Given the description of an element on the screen output the (x, y) to click on. 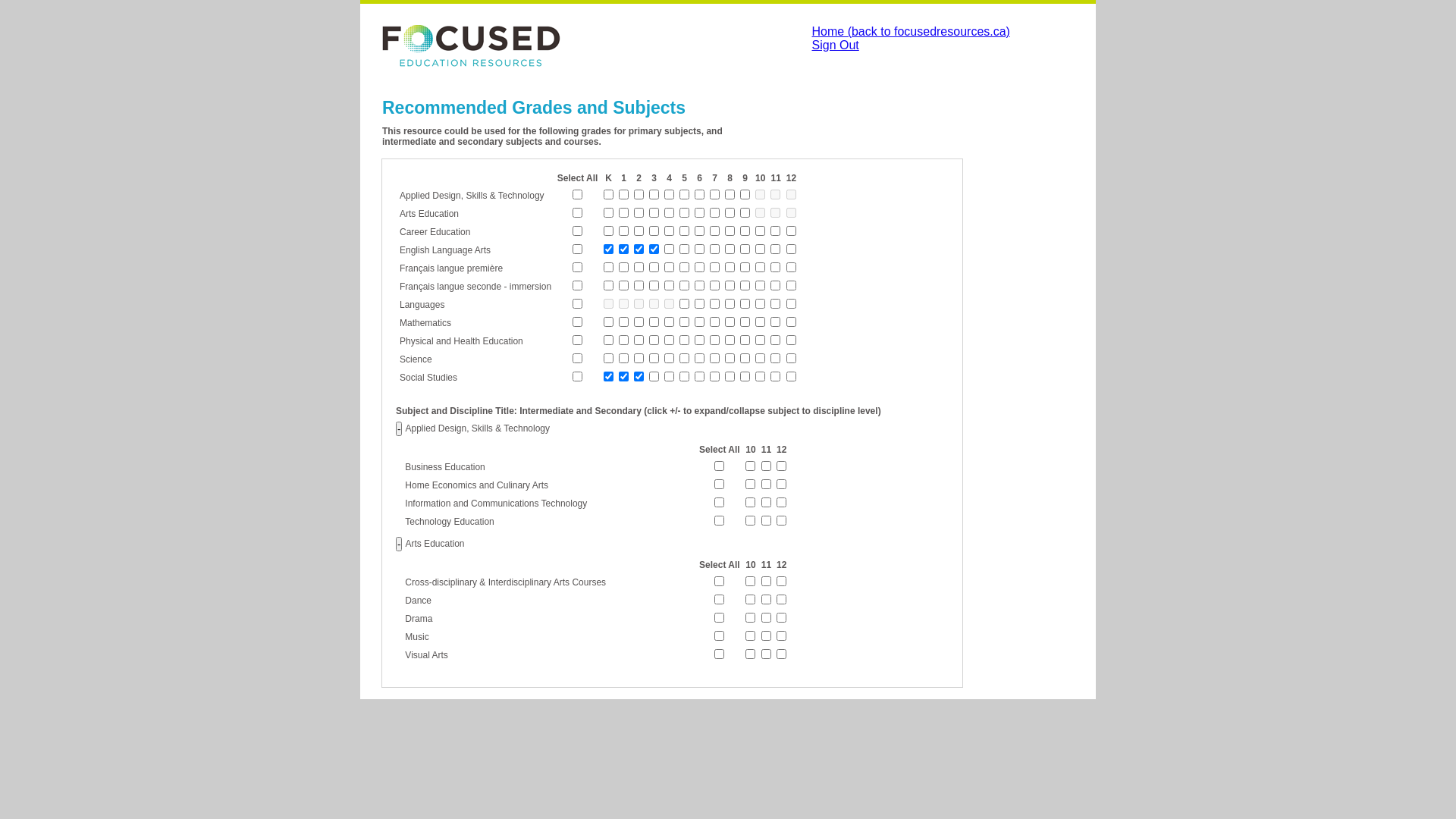
on Element type: text (577, 212)
on Element type: text (719, 484)
on Element type: text (577, 249)
on Element type: text (577, 194)
on Element type: text (577, 285)
on Element type: text (577, 267)
on Element type: text (577, 358)
on Element type: text (719, 520)
on Element type: text (577, 321)
Sign Out Element type: text (834, 44)
on Element type: text (577, 340)
on Element type: text (719, 581)
on Element type: text (719, 502)
Home (back to focusedresources.ca) Element type: text (910, 31)
on Element type: text (577, 376)
on Element type: text (719, 599)
on Element type: text (719, 653)
on Element type: text (719, 465)
on Element type: text (719, 617)
on Element type: text (719, 635)
on Element type: text (577, 230)
on Element type: text (577, 303)
